Given the description of an element on the screen output the (x, y) to click on. 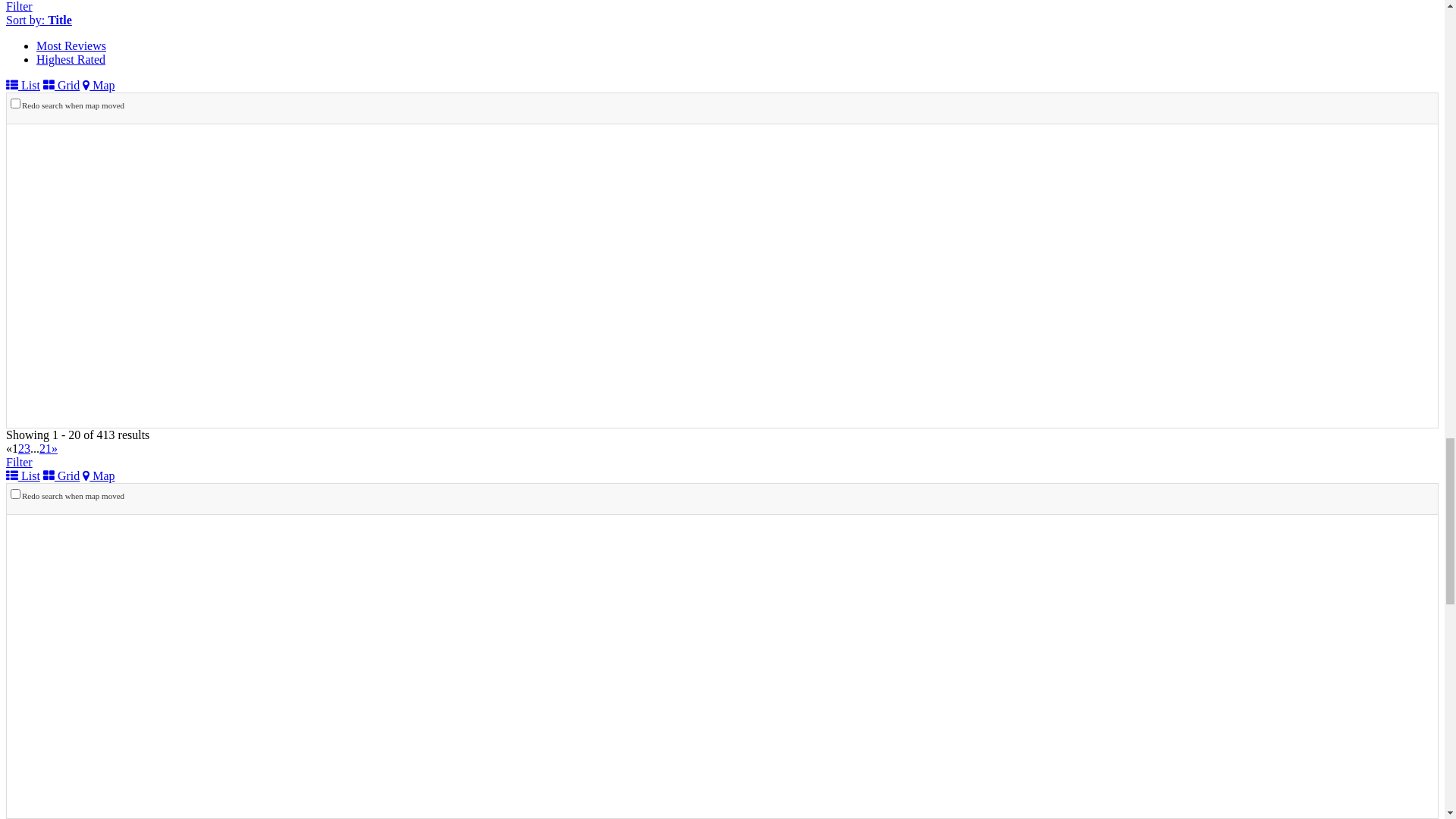
The Collections Lounge Element type: text (155, 363)
Services Element type: text (86, 404)
Donate Element type: text (65, 39)
Completed Advocacy Projects Element type: text (139, 513)
Lecture Podcasts Element type: text (138, 704)
Donate Items Element type: text (129, 472)
Search Element type: text (83, 322)
How Element type: text (78, 445)
Cart (0) Element type: text (24, 39)
Site Search Request Element type: text (145, 431)
Current Advocacy Projects Element type: text (131, 499)
Skip to content Element type: text (42, 12)
National Trust Advocacy Toolkit Element type: text (145, 526)
Search Images Here Element type: text (46, 238)
Stay at home festival Element type: text (148, 649)
Victorian Community History Awards Element type: text (189, 772)
Submit Your Victorian History Event Element type: text (186, 608)
VICTORIAN COMMUNITY HISTORY AWARDS 2023 Element type: text (236, 786)
View Your Events Element type: text (141, 622)
Walking Tours Element type: text (132, 636)
Home Element type: text (50, 294)
Walking Tour Podcasts Element type: text (153, 718)
Resources Element type: text (91, 677)
Victorian History Events Calendar Element type: text (180, 595)
Royal Historical Society of Victoria Element type: text (93, 25)
Research Enquiries Element type: text (144, 417)
History Month Element type: text (133, 745)
Join Today Element type: text (147, 39)
Holsworth Local Heritage Grants Element type: text (178, 799)
About the Collection Element type: text (147, 335)
Collections/Research Element type: text (87, 308)
Heritage Matters Element type: text (77, 486)
Log In Element type: text (102, 39)
Location, Hours and What to Bring Element type: text (182, 458)
Search the Collection Element type: text (149, 349)
RHSV Heritage Committee Element type: text (133, 540)
Ticket Policy Element type: text (129, 663)
Upcoming RHSV Events & Exhibitions Element type: text (194, 581)
Programs Element type: text (89, 731)
Activities Element type: text (89, 567)
